Given the description of an element on the screen output the (x, y) to click on. 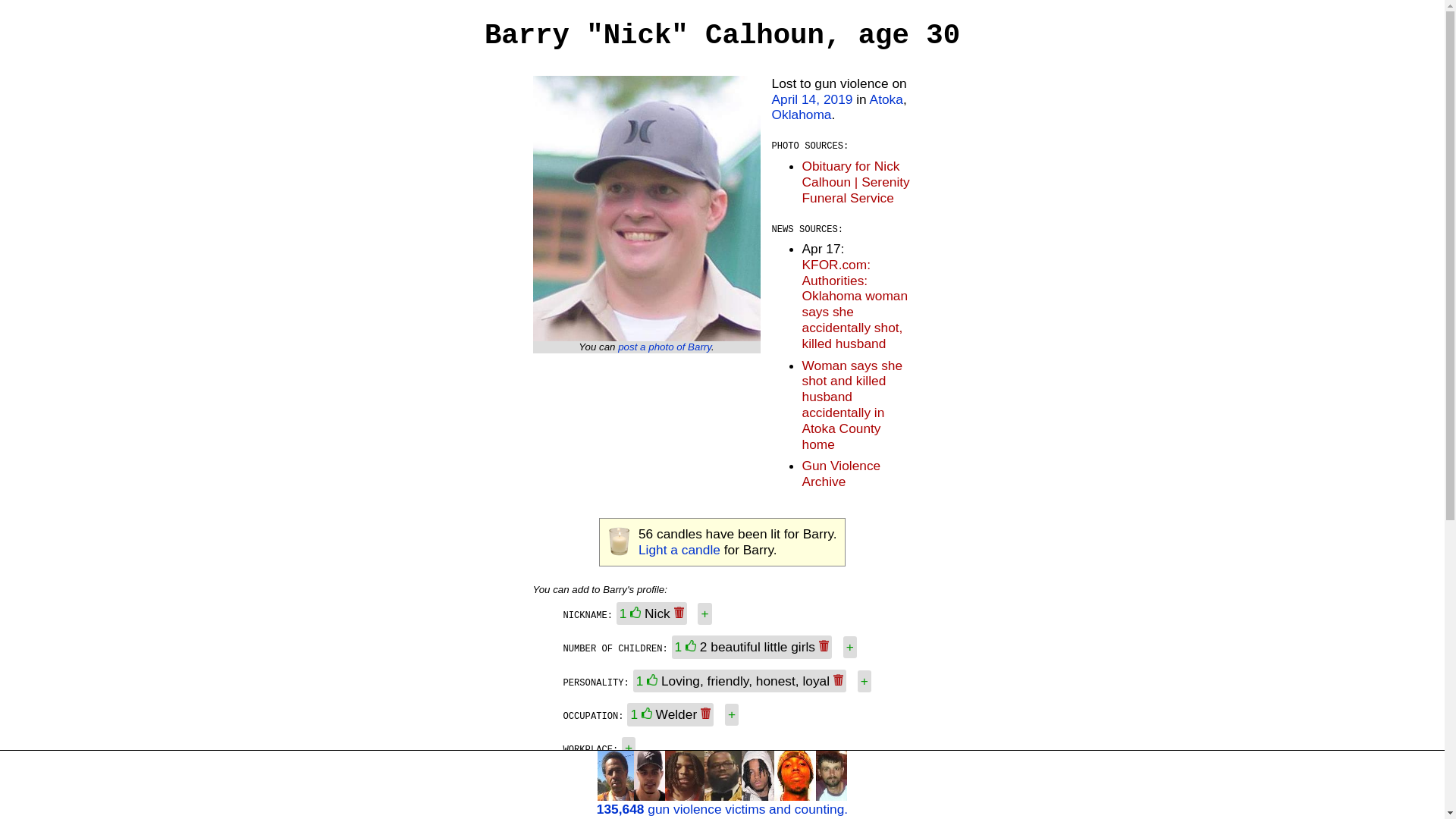
1 (675, 780)
1 (632, 613)
April 14, 2019 (812, 99)
Light a candle (679, 549)
1 (642, 713)
post a photo of Barry (664, 346)
1 (648, 680)
Gun Violence Archive (841, 472)
1 (687, 646)
Atoka (885, 99)
Oklahoma (801, 114)
